Given the description of an element on the screen output the (x, y) to click on. 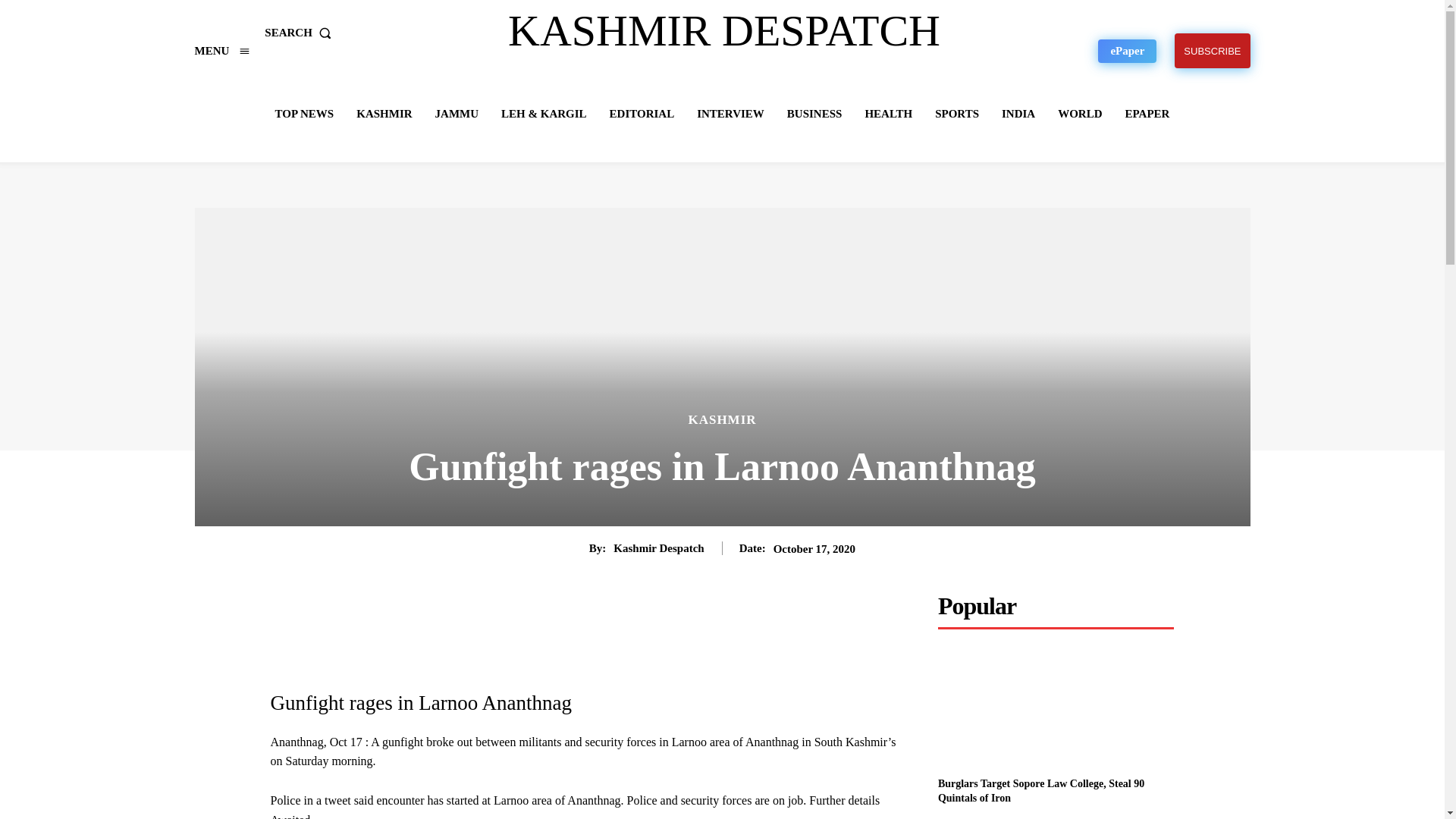
KASHMIR (721, 419)
HEALTH (888, 113)
INTERVIEW (729, 113)
SEARCH (300, 32)
KASHMIR (384, 113)
ePaper (1126, 51)
WORLD (1079, 113)
TOP NEWS (304, 113)
Kashmir Despatch (657, 548)
Menu (220, 50)
